Given the description of an element on the screen output the (x, y) to click on. 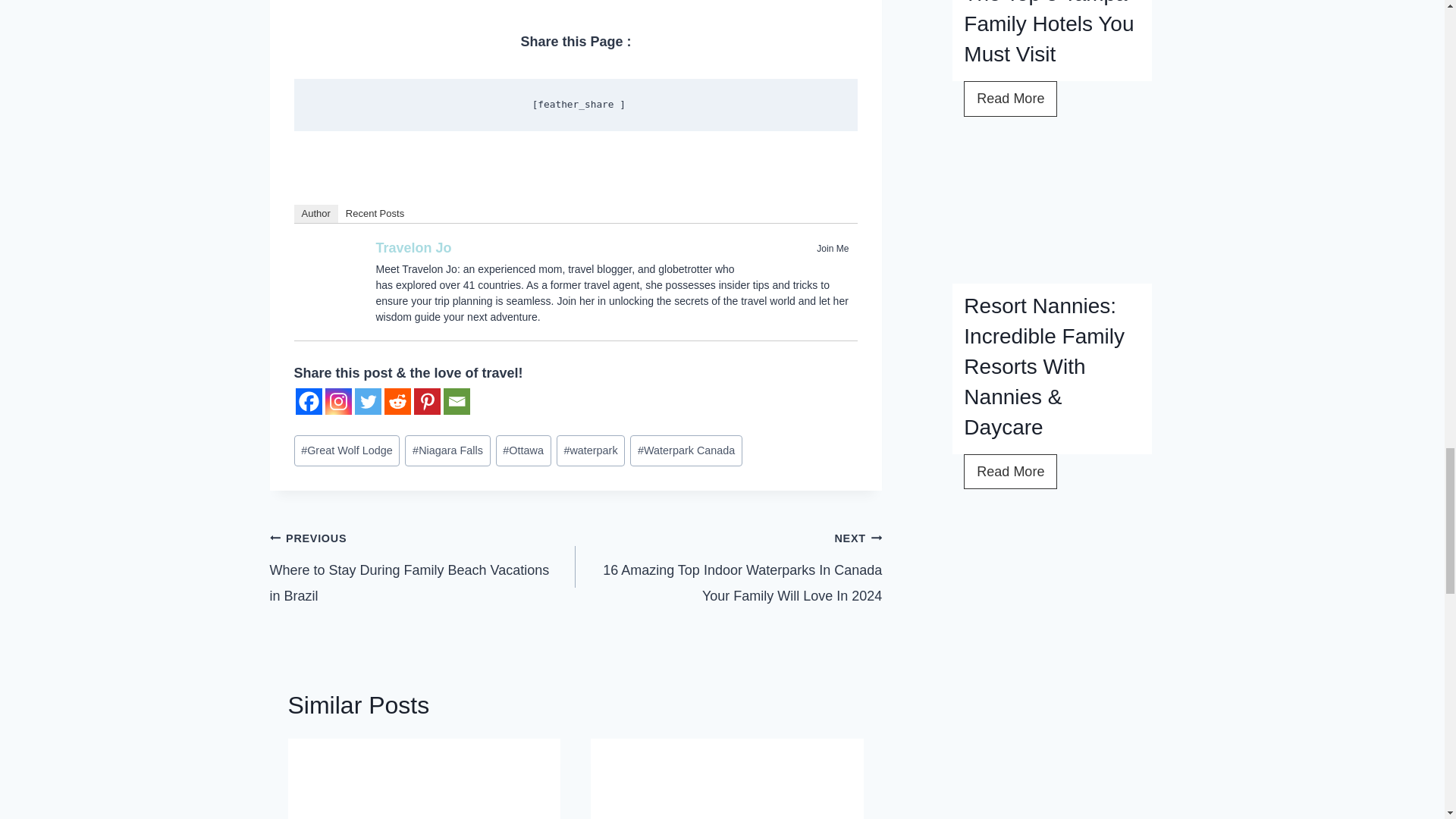
Ottawa (523, 450)
Niagara Falls (446, 450)
Facebook (818, 266)
waterpark (590, 450)
Reddit (397, 401)
Twitter (368, 401)
Great Wolf Lodge (347, 450)
Email (455, 401)
Twitter (838, 266)
Instagram (337, 401)
Pinterest (427, 401)
Facebook (308, 401)
